Given the description of an element on the screen output the (x, y) to click on. 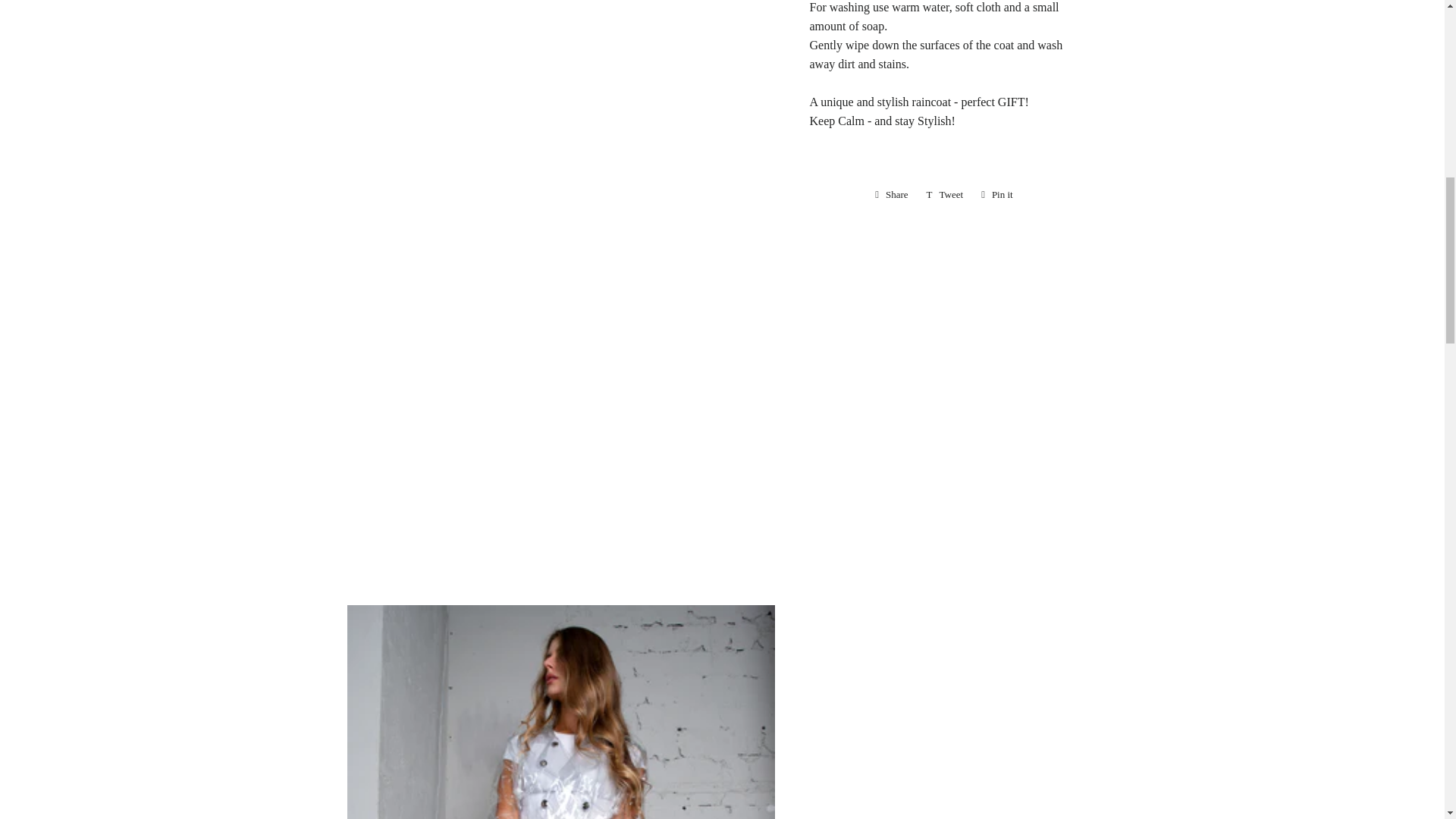
Pin on Pinterest (997, 194)
Share on Facebook (891, 194)
Tweet on Twitter (997, 194)
